Given the description of an element on the screen output the (x, y) to click on. 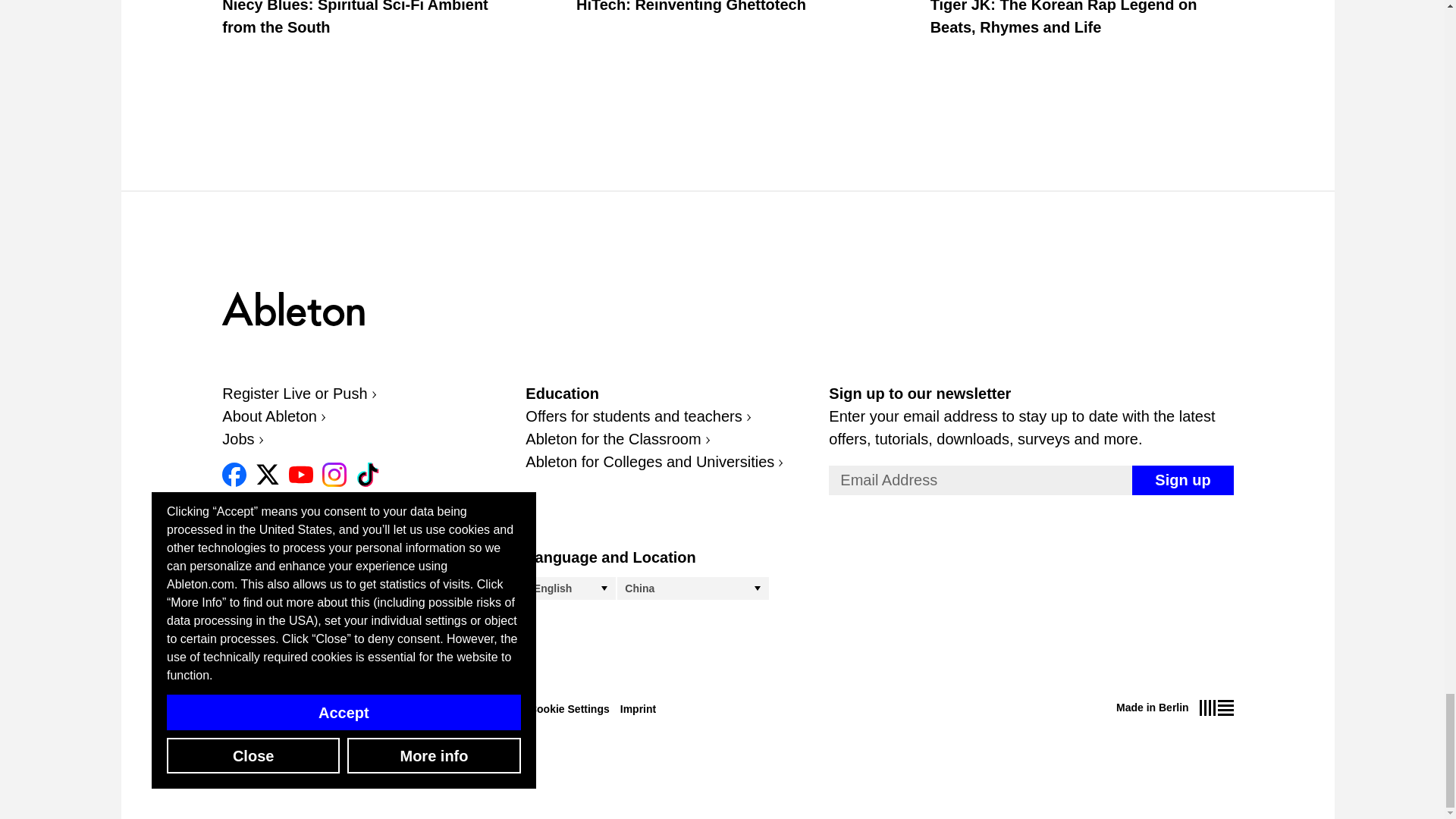
Go to Instagram (333, 474)
Go to TikTok (367, 474)
Go to Youtube (300, 474)
Go to Facebook (233, 474)
Go to Twitter (266, 474)
Sign up (1182, 480)
